Given the description of an element on the screen output the (x, y) to click on. 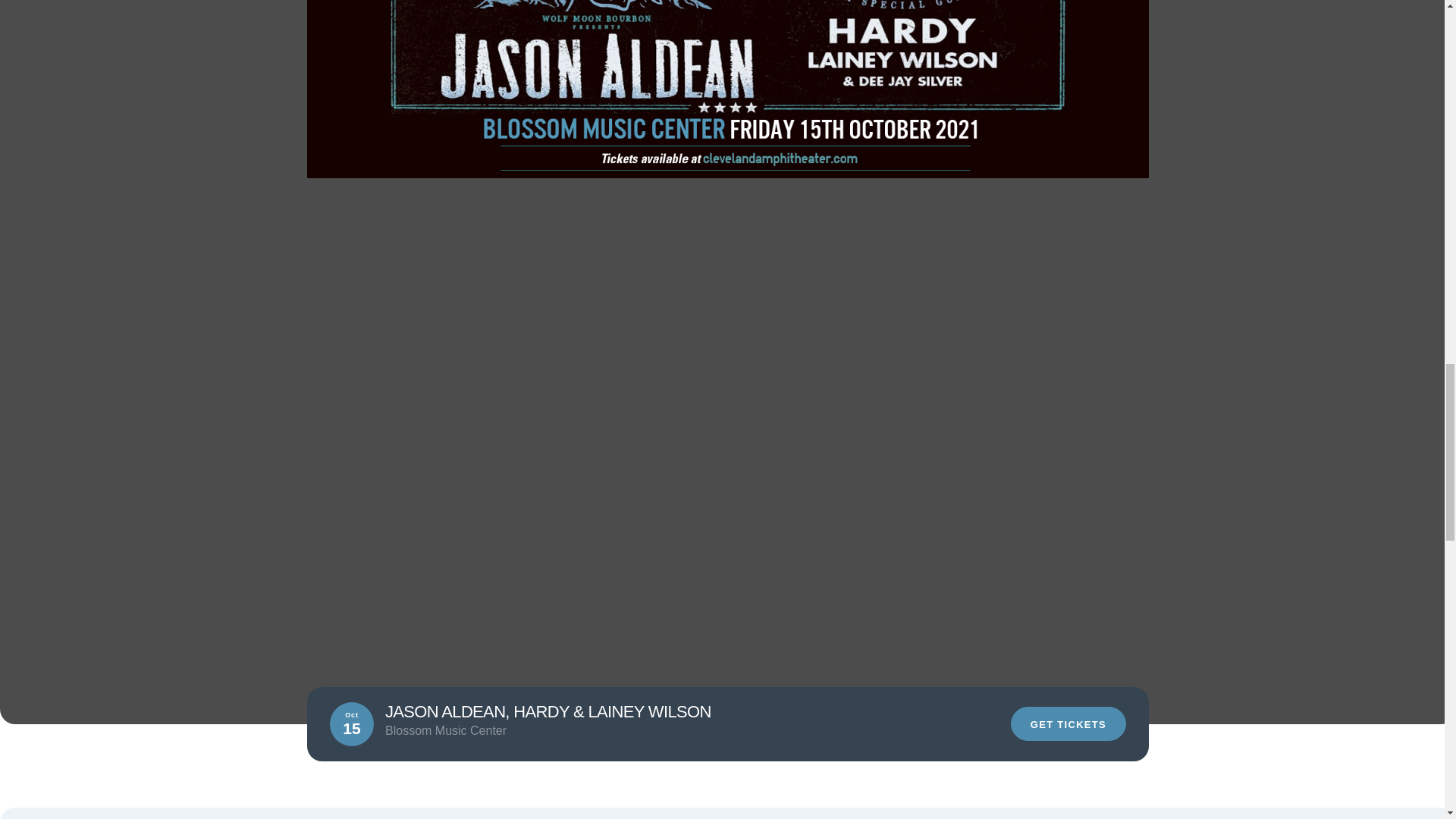
Blossom Music Center (375, 725)
2021 (533, 725)
Archive (477, 725)
GET TICKETS (1067, 723)
October (590, 725)
